Given the description of an element on the screen output the (x, y) to click on. 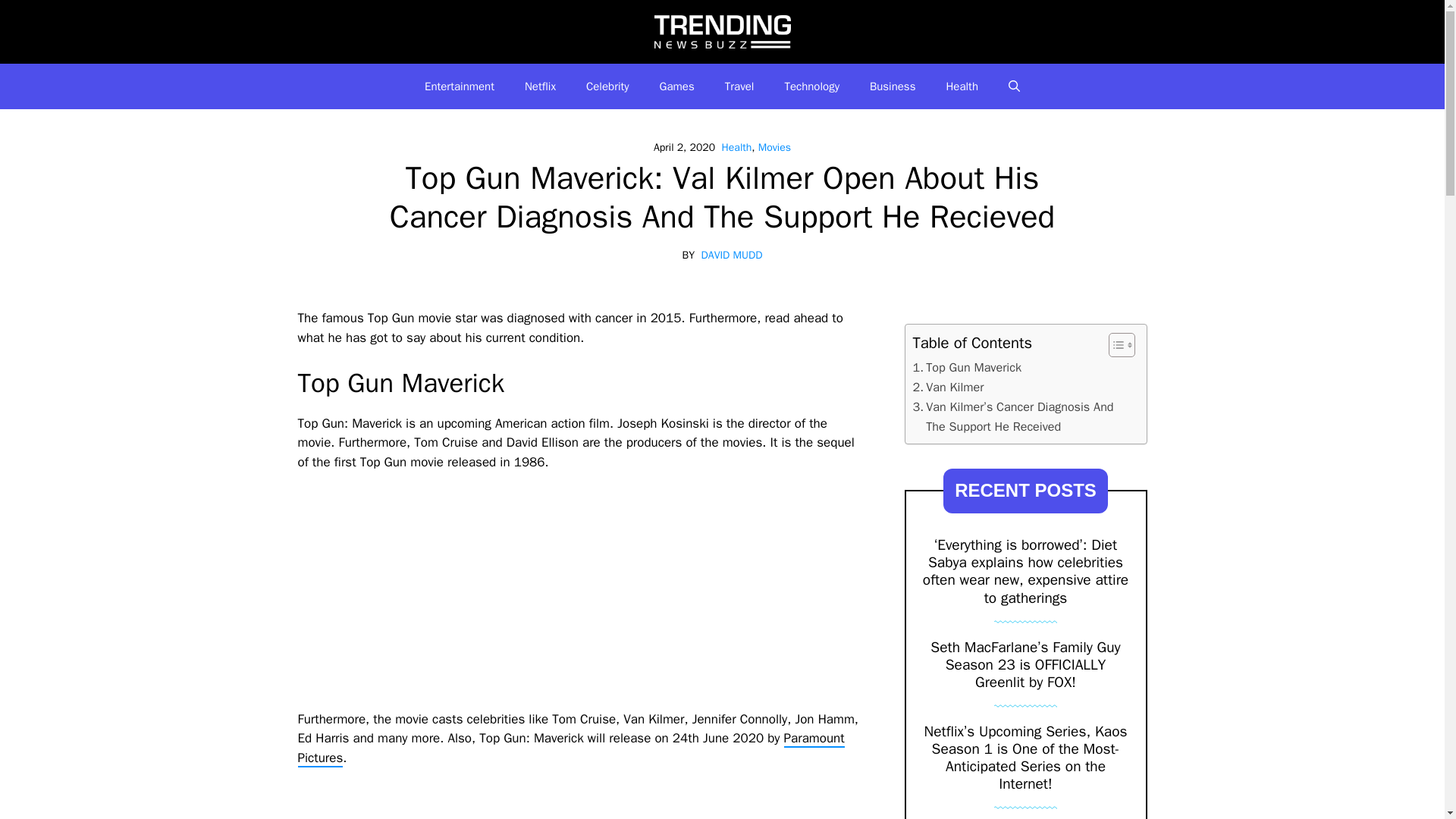
Paramount Pictures (570, 748)
Top Gun Maverick (967, 367)
Technology (811, 85)
Advertisement (578, 803)
Van Kilmer (948, 387)
Entertainment (459, 85)
Business (892, 85)
Netflix (539, 85)
Movies (774, 146)
DAVID MUDD (731, 254)
Van Kilmer (948, 387)
Celebrity (607, 85)
Travel (740, 85)
Top Gun Maverick (967, 367)
Games (677, 85)
